Given the description of an element on the screen output the (x, y) to click on. 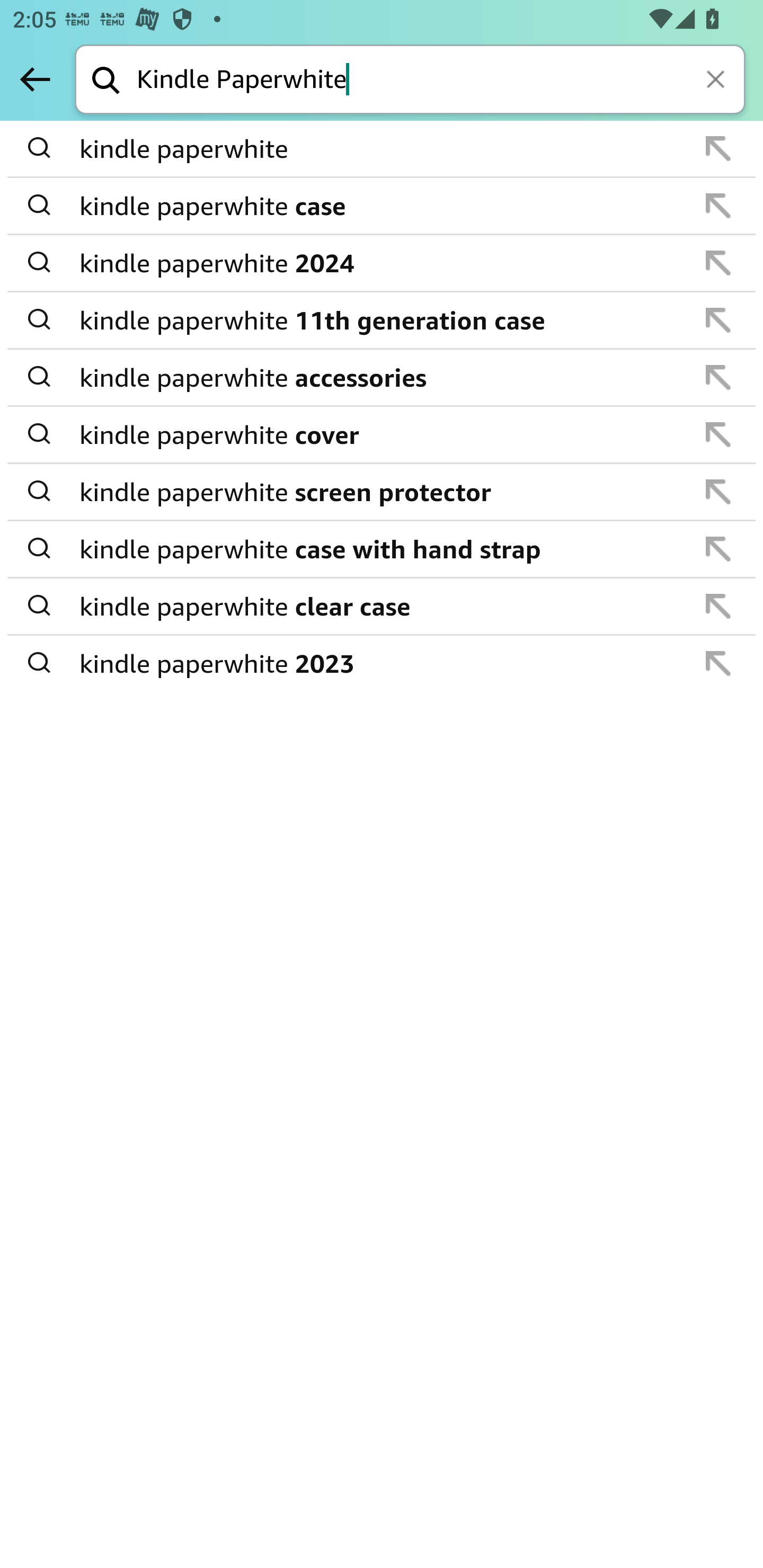
Kindle Paperwhite (440, 80)
Clear search keywords (717, 80)
Back (35, 78)
append suggestion kindle paperwhite (381, 149)
kindle paperwhite (382, 149)
append suggestion (718, 147)
kindle paperwhite case (382, 205)
append suggestion kindle paperwhite case (381, 206)
append suggestion (718, 205)
kindle paperwhite 2024 (382, 262)
append suggestion kindle paperwhite 2024 (381, 263)
append suggestion (718, 262)
kindle paperwhite 11th generation case (382, 319)
append suggestion (718, 319)
kindle paperwhite accessories (382, 377)
append suggestion kindle paperwhite accessories (381, 377)
append suggestion (718, 376)
kindle paperwhite cover (382, 434)
append suggestion kindle paperwhite cover (381, 435)
append suggestion (718, 434)
kindle paperwhite screen protector (382, 491)
append suggestion (718, 491)
kindle paperwhite case with hand strap (382, 548)
append suggestion (718, 548)
kindle paperwhite clear case (382, 606)
append suggestion kindle paperwhite clear case (381, 606)
append suggestion (718, 605)
kindle paperwhite 2023 (382, 662)
append suggestion kindle paperwhite 2023 (381, 663)
append suggestion (718, 663)
